Given the description of an element on the screen output the (x, y) to click on. 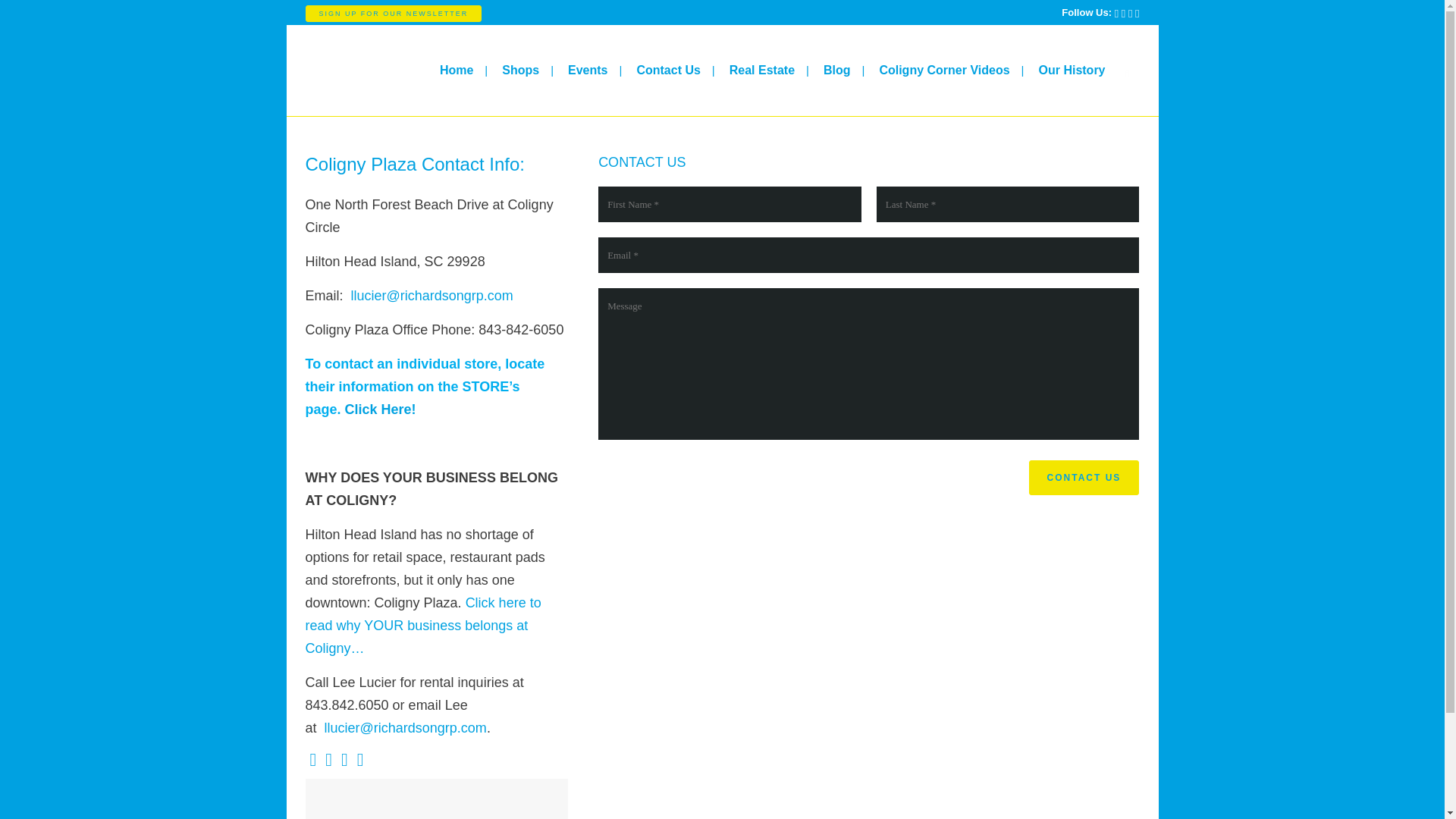
Coligny Corner Videos (944, 70)
Events (729, 613)
Contact Us (729, 642)
Shops (729, 583)
Contact Us (668, 70)
Contact Us (1084, 477)
Real Estate (762, 70)
Contact Us (1084, 477)
Our History (1071, 70)
